Given the description of an element on the screen output the (x, y) to click on. 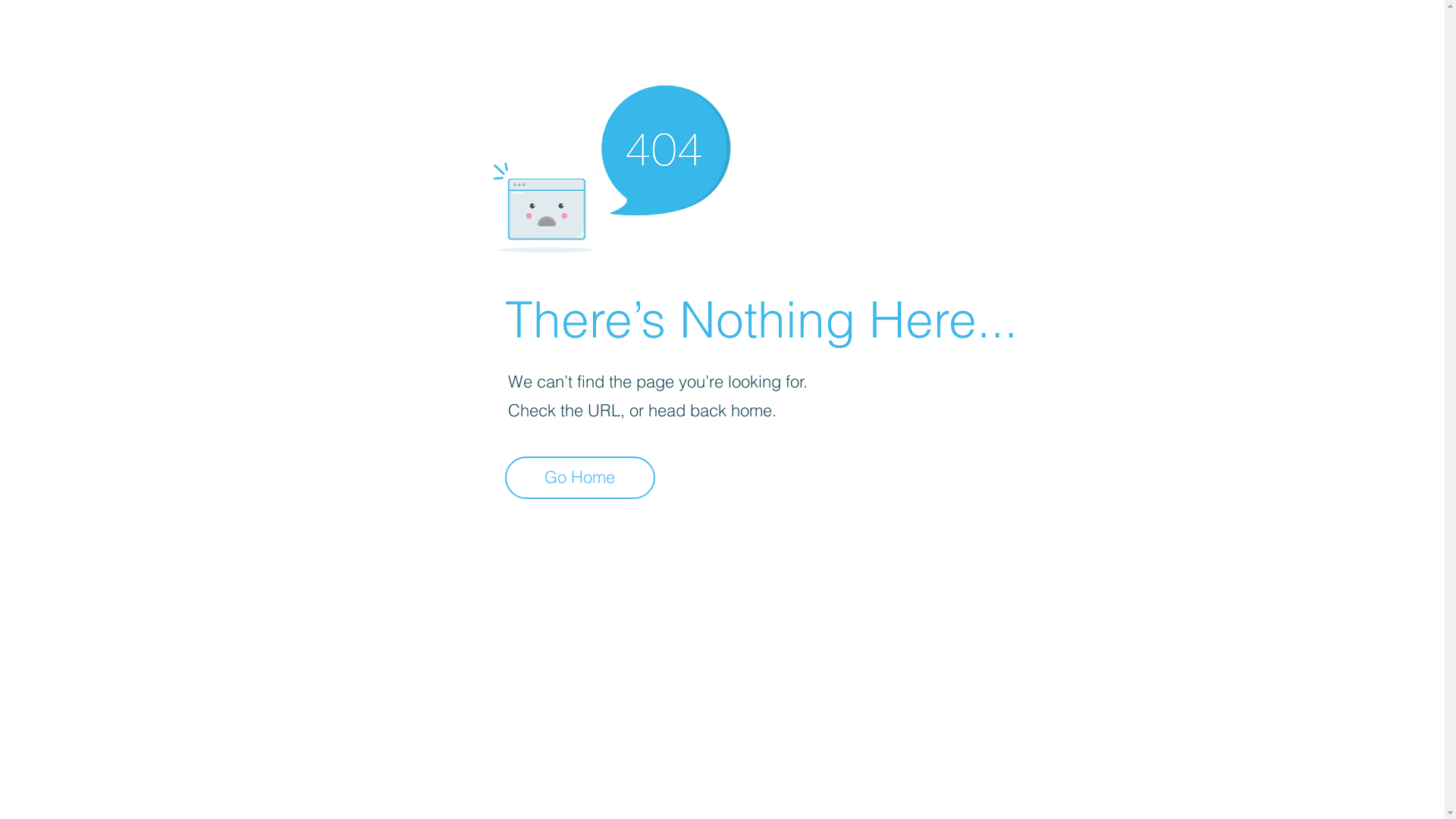
Go Home Element type: text (580, 477)
404-icon_2.png Element type: hover (610, 164)
